Given the description of an element on the screen output the (x, y) to click on. 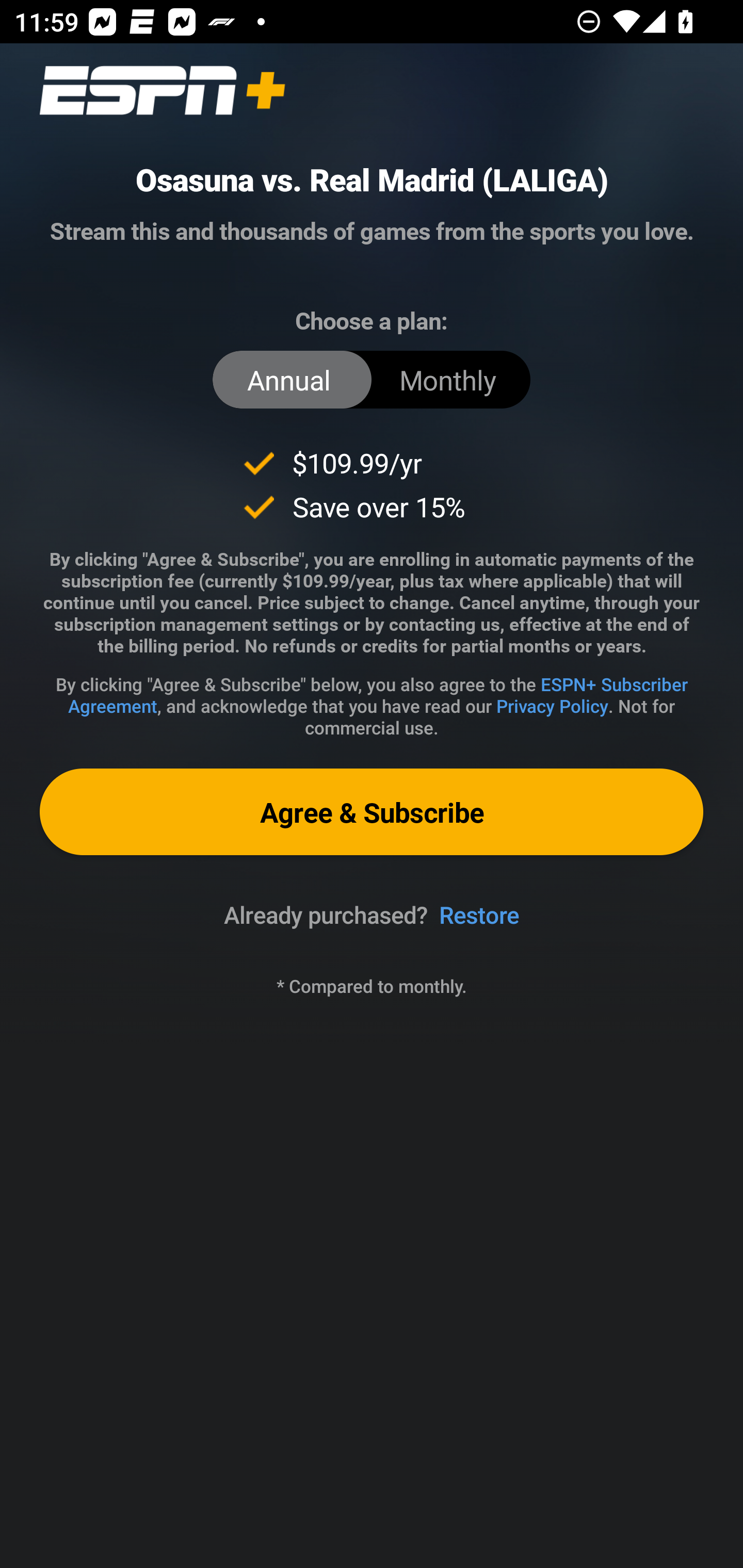
Agree & Subscribe (371, 811)
